Given the description of an element on the screen output the (x, y) to click on. 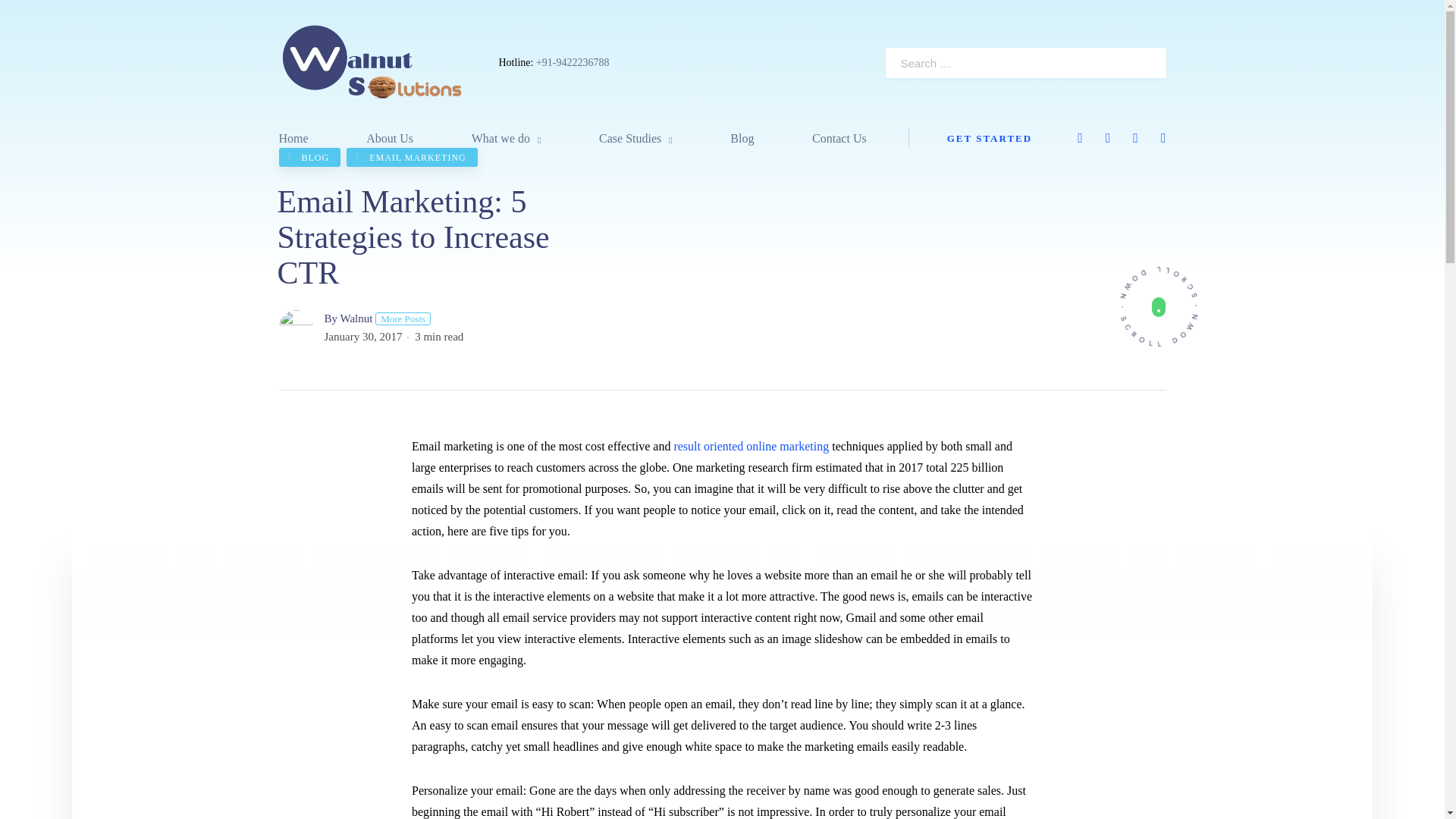
About Us (389, 137)
Contact Us (839, 137)
More Posts (402, 318)
result oriented online marketing (750, 445)
Blog (742, 137)
Case Studies (635, 137)
What we do (506, 137)
Home (293, 137)
GET STARTED (989, 138)
Find out more (1158, 306)
BLOG (309, 157)
Search (1132, 62)
EMAIL MARKETING (411, 157)
